Given the description of an element on the screen output the (x, y) to click on. 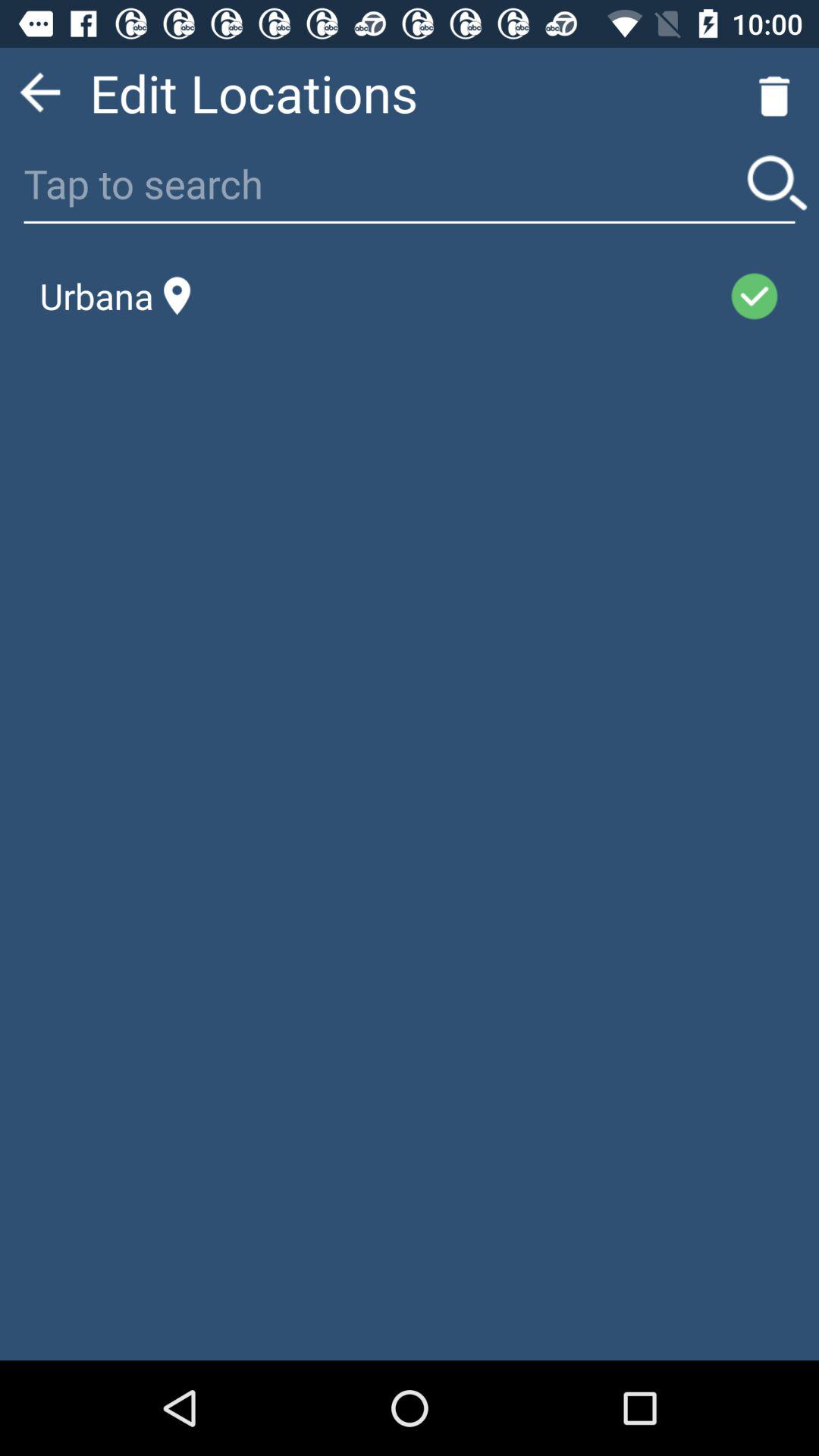
go back (39, 92)
